Given the description of an element on the screen output the (x, y) to click on. 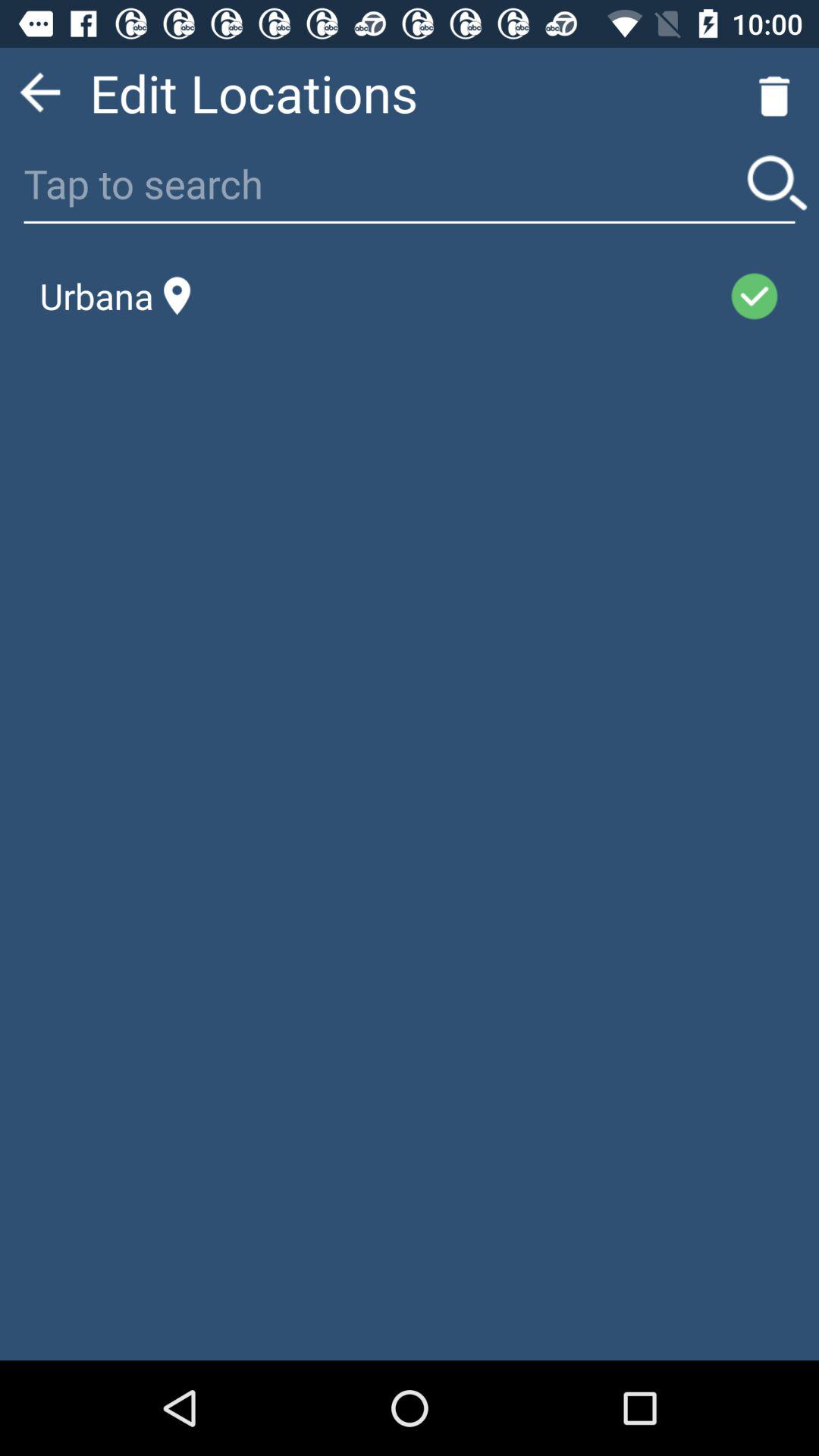
go back (39, 92)
